Given the description of an element on the screen output the (x, y) to click on. 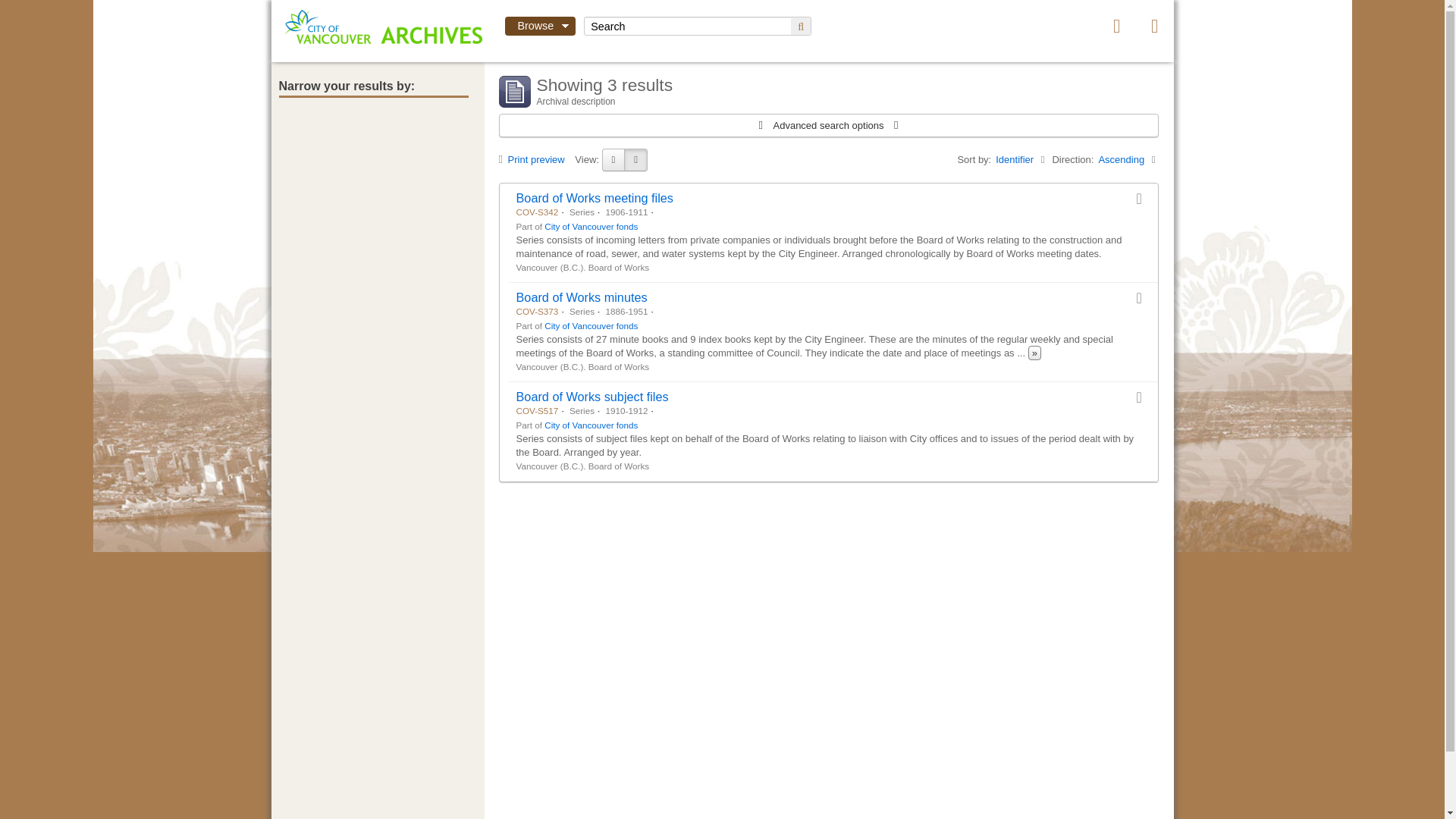
Clipboard (1116, 26)
Quick links (1154, 26)
Board of Works meeting files (593, 197)
Advanced search options (828, 125)
Browse (540, 26)
Print preview (535, 159)
